Given the description of an element on the screen output the (x, y) to click on. 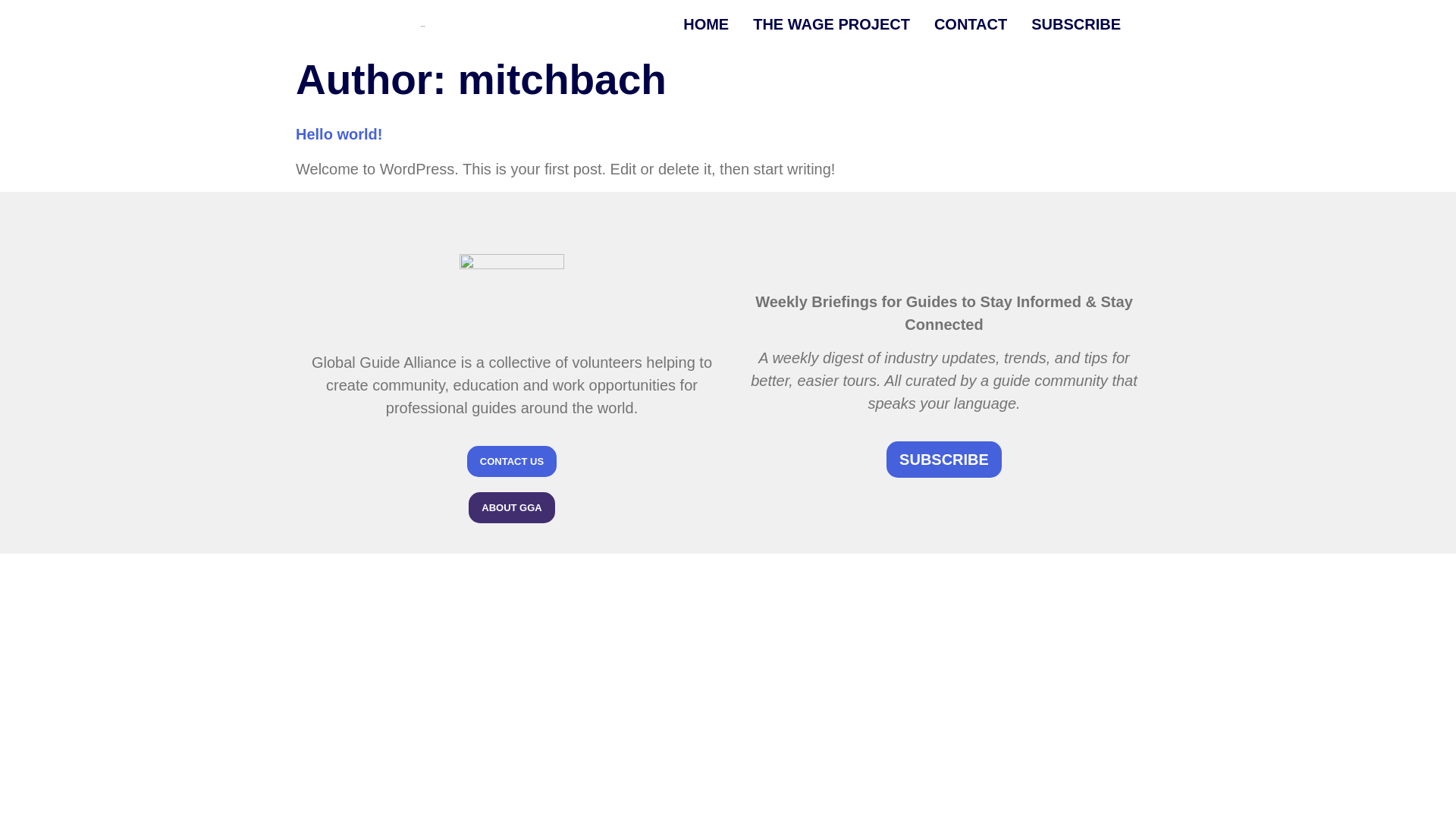
THE WAGE PROJECT (831, 23)
SUBSCRIBE (1075, 23)
CONTACT (970, 23)
ABOUT GGA (511, 507)
CONTACT US (511, 460)
SUBSCRIBE (943, 459)
HOME (706, 23)
Hello world! (338, 134)
